Given the description of an element on the screen output the (x, y) to click on. 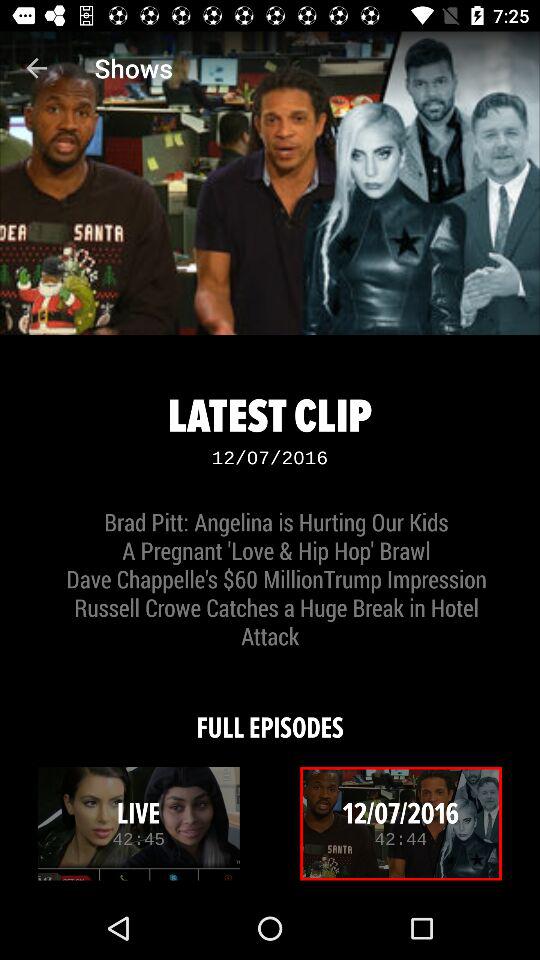
open item above the brad pitt angelina icon (36, 68)
